Given the description of an element on the screen output the (x, y) to click on. 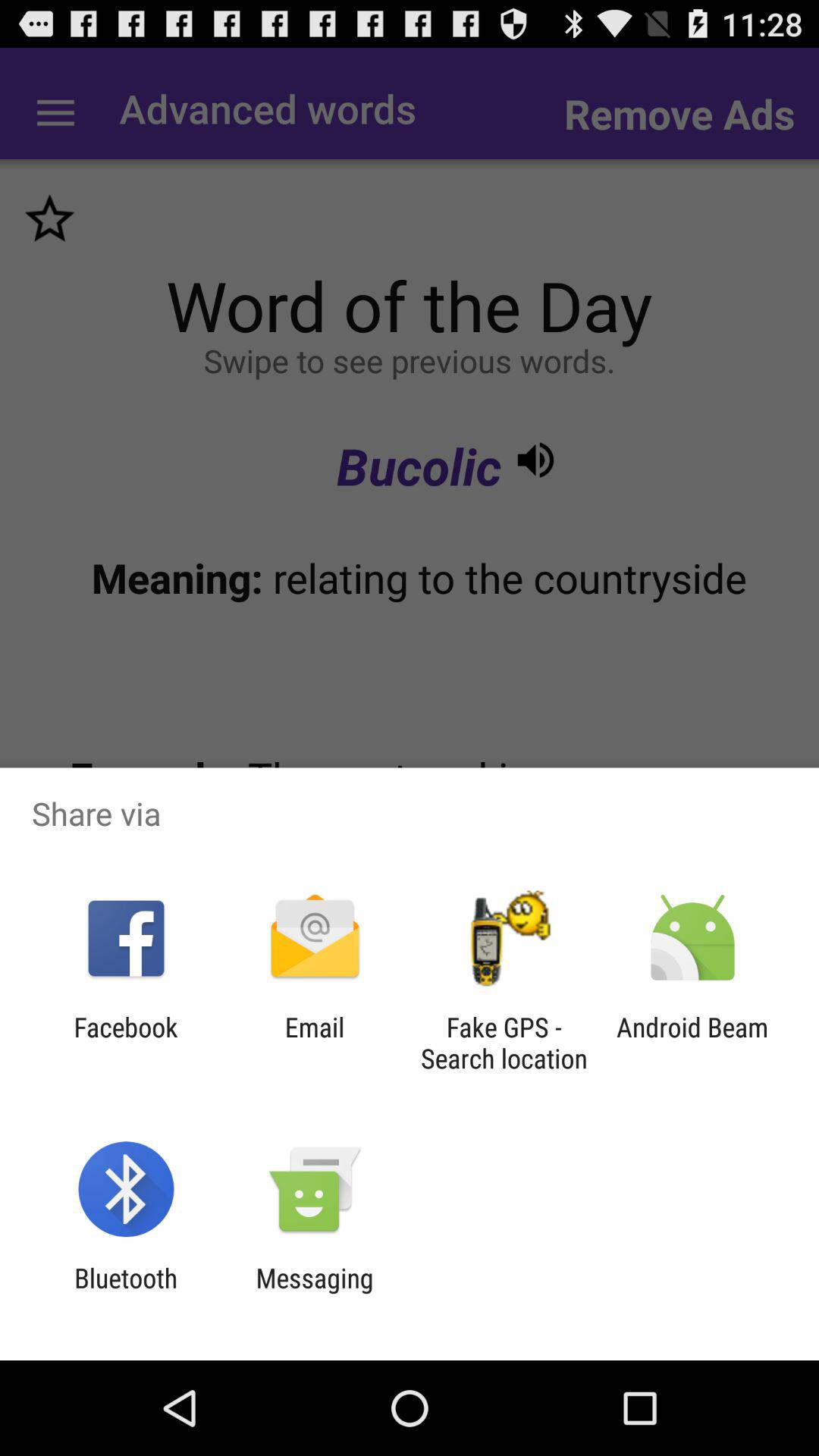
launch the icon to the right of the facebook app (314, 1042)
